Given the description of an element on the screen output the (x, y) to click on. 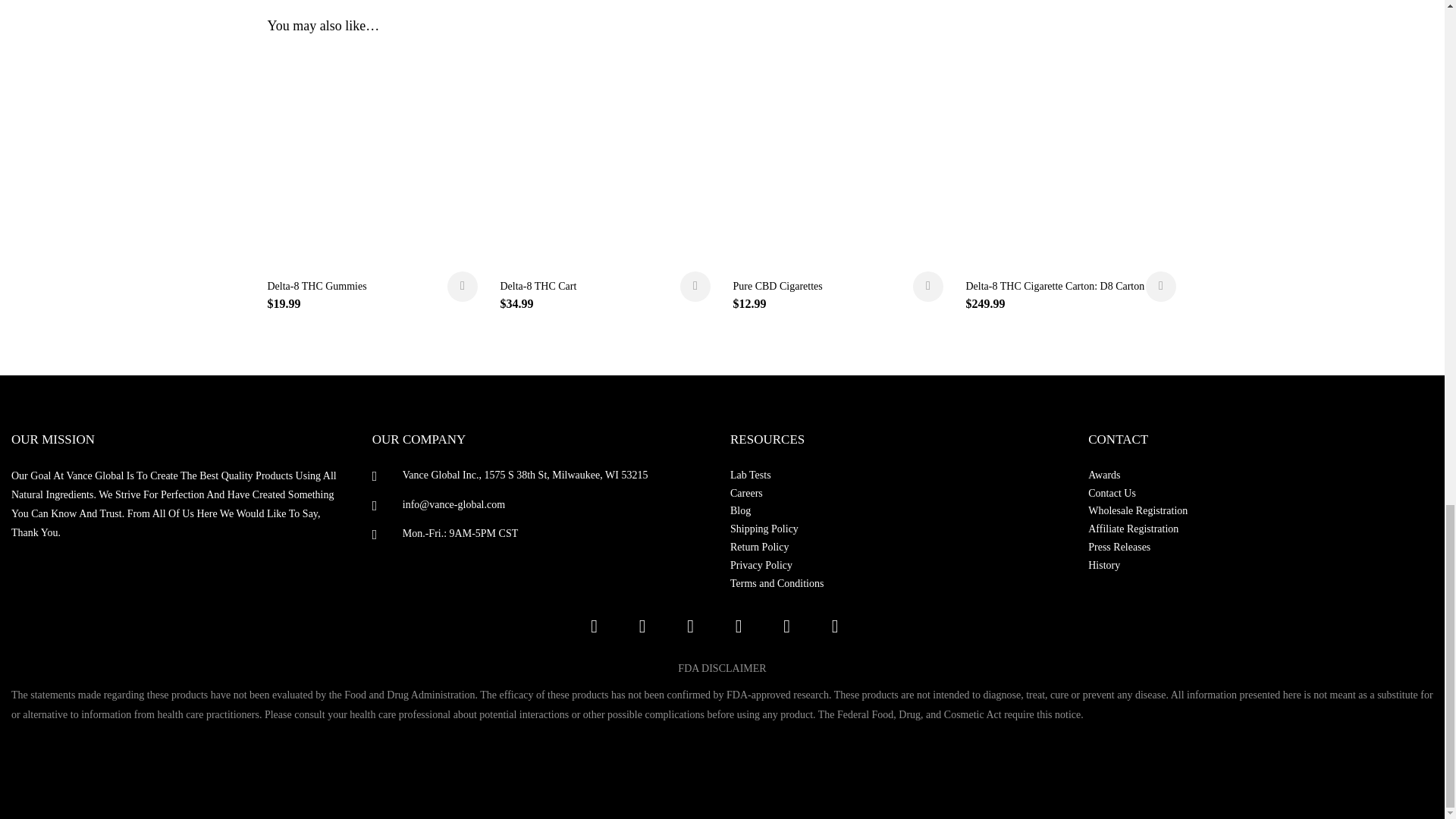
ADD TO CART (927, 286)
ADD TO CART (694, 286)
ADD TO CART (461, 286)
